Given the description of an element on the screen output the (x, y) to click on. 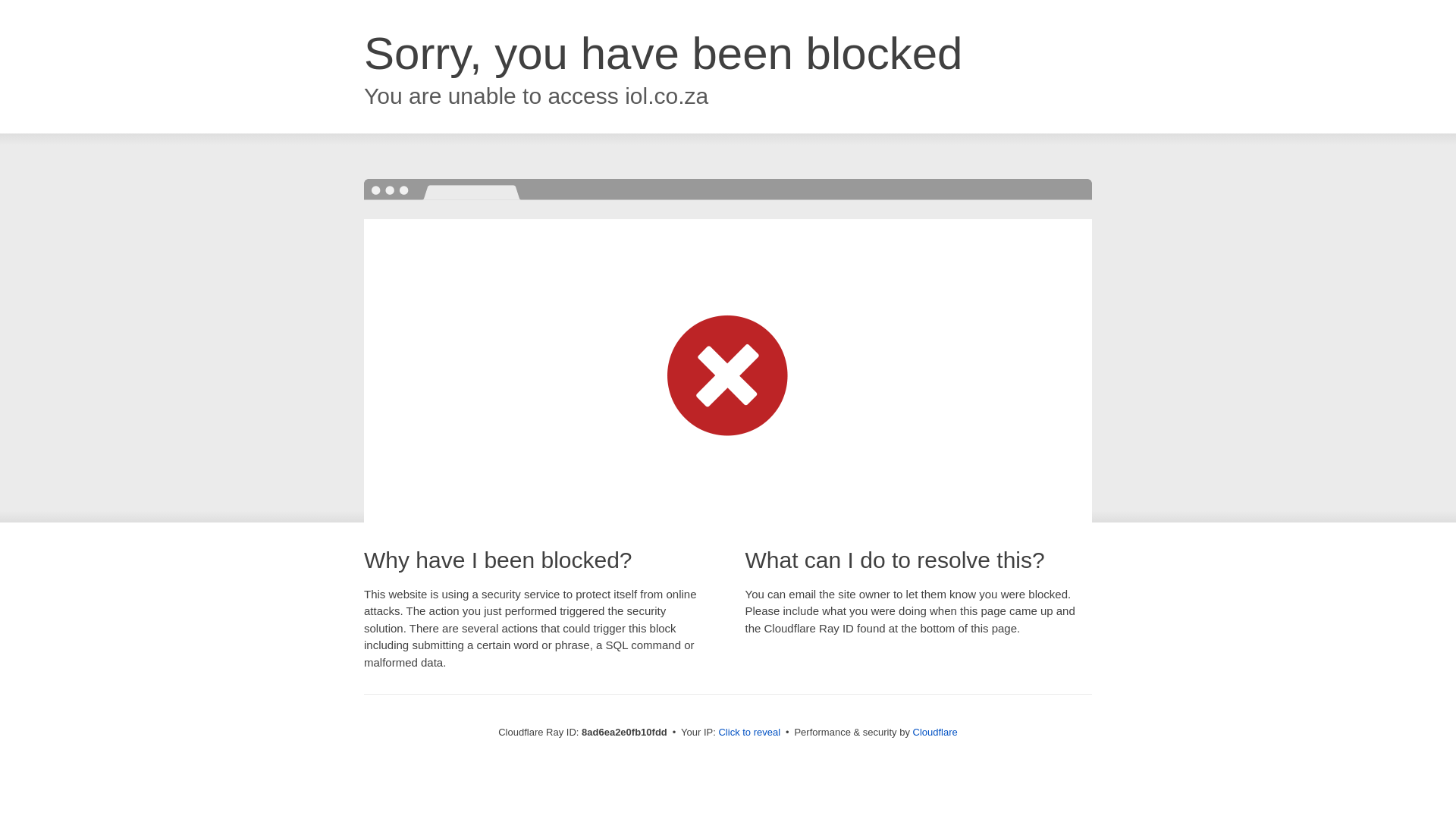
Click to reveal (748, 732)
Cloudflare (935, 731)
